Given the description of an element on the screen output the (x, y) to click on. 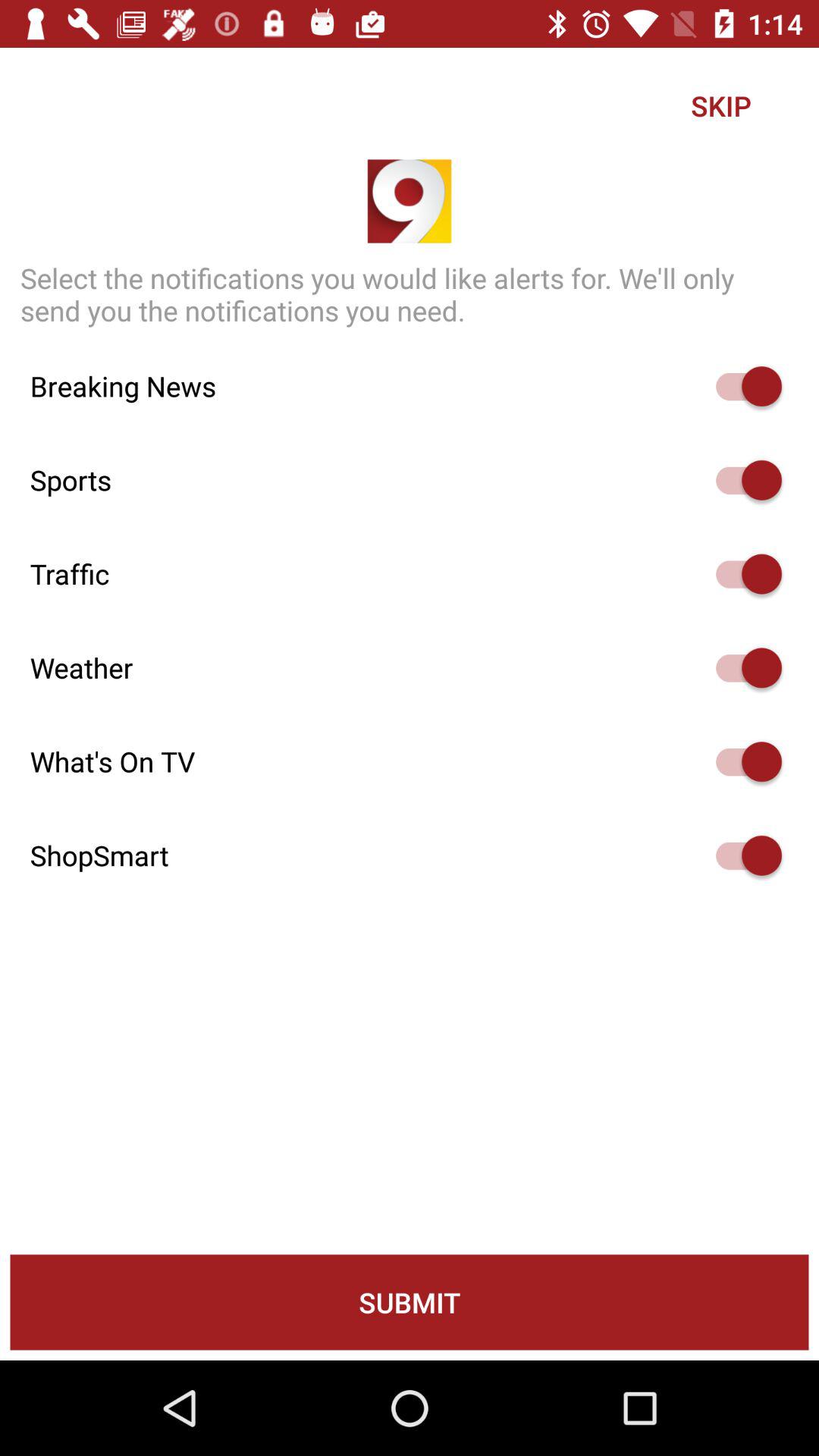
turn on skip item (720, 105)
